Given the description of an element on the screen output the (x, y) to click on. 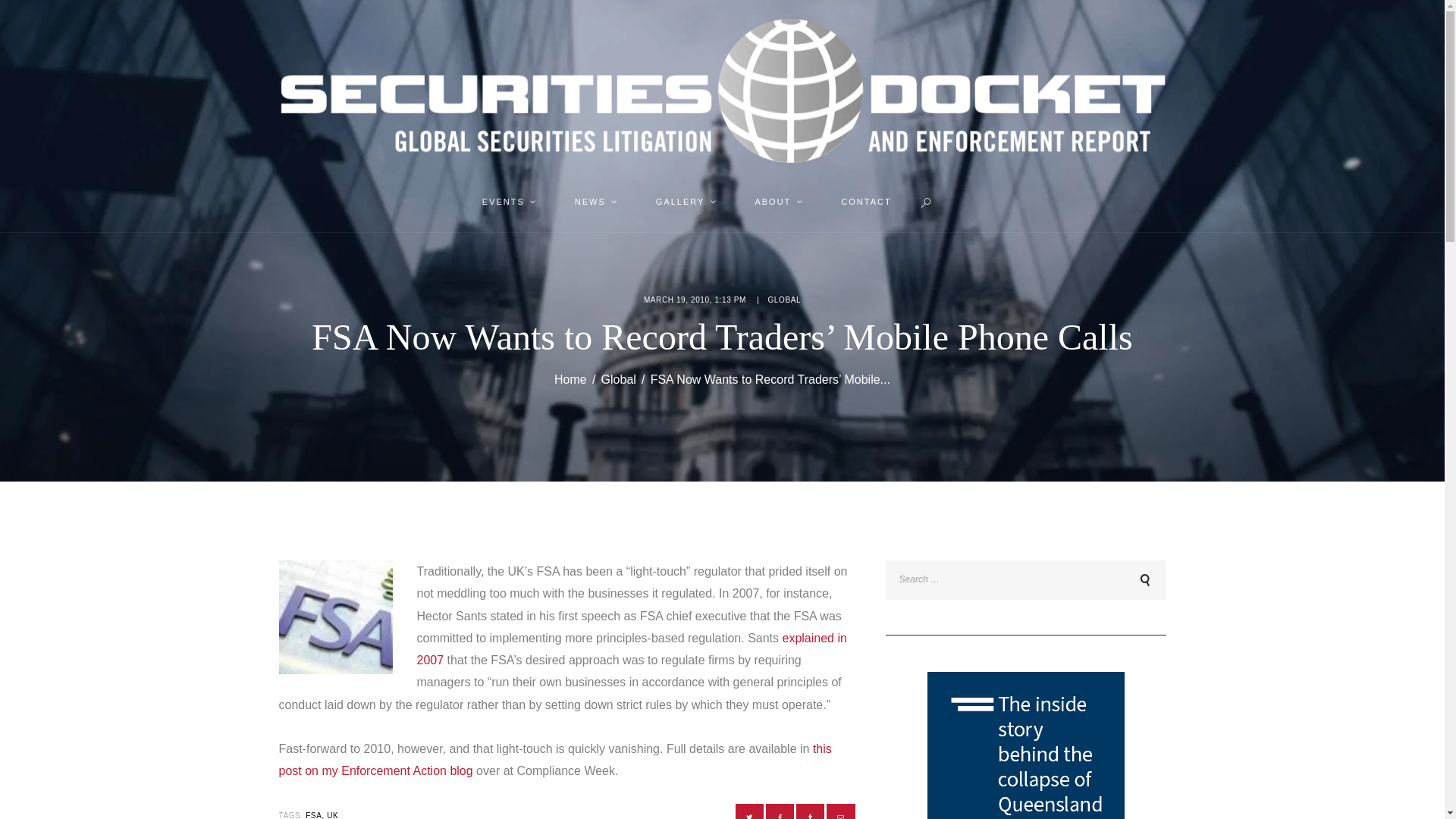
Global (618, 379)
GALLERY (683, 202)
GLOBAL (783, 299)
Search (1142, 579)
MARCH 19, 2010, 1:13 PM (694, 299)
ABOUT (777, 202)
EVENTS (507, 202)
Home (570, 379)
NEWS (593, 202)
CONTACT (866, 202)
FSA230 (336, 617)
Search (1142, 579)
